Given the description of an element on the screen output the (x, y) to click on. 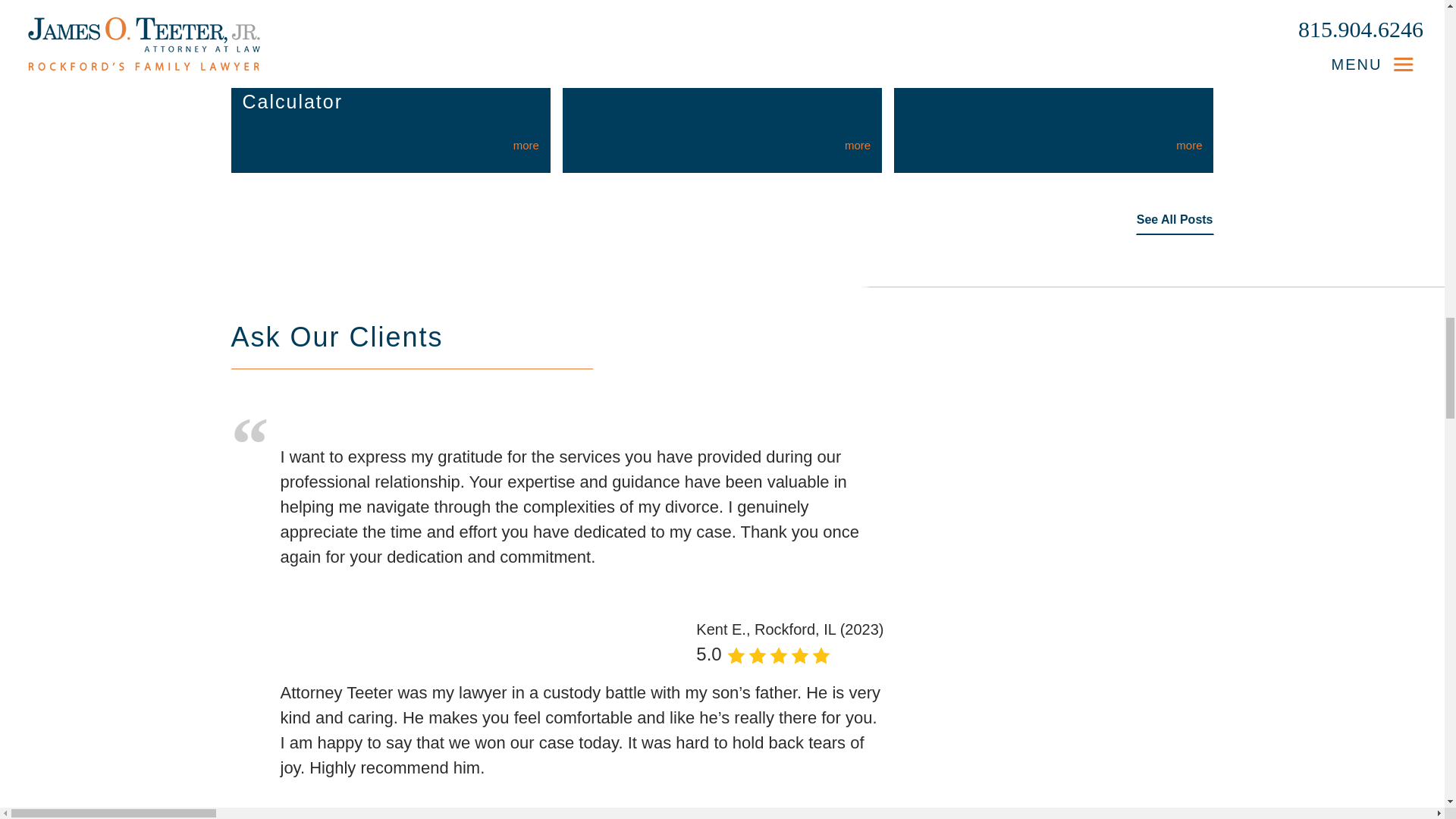
Star (799, 655)
Star (735, 655)
Star (778, 655)
Star (757, 655)
Star (820, 655)
